Given the description of an element on the screen output the (x, y) to click on. 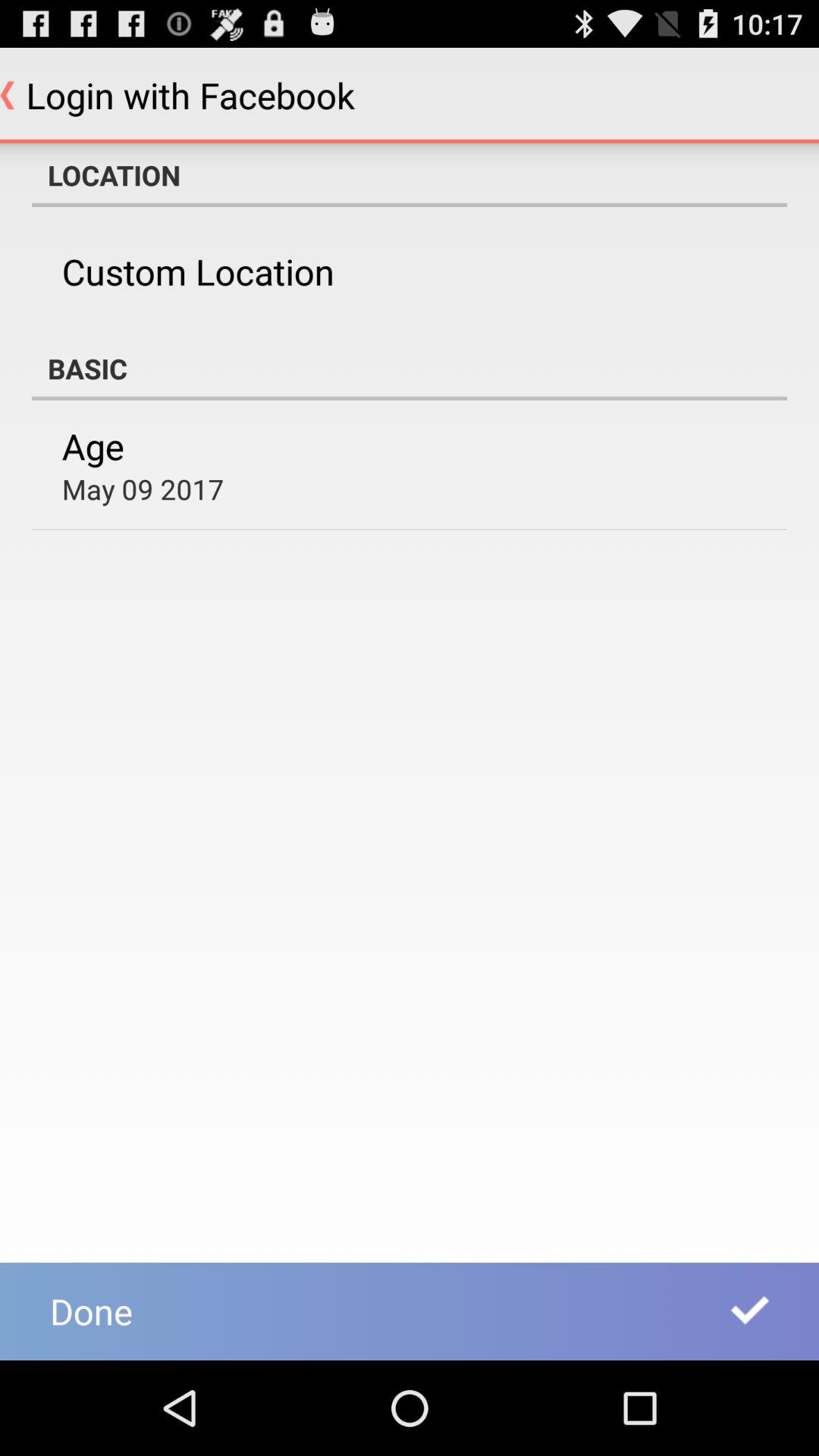
swipe until age item (92, 446)
